Given the description of an element on the screen output the (x, y) to click on. 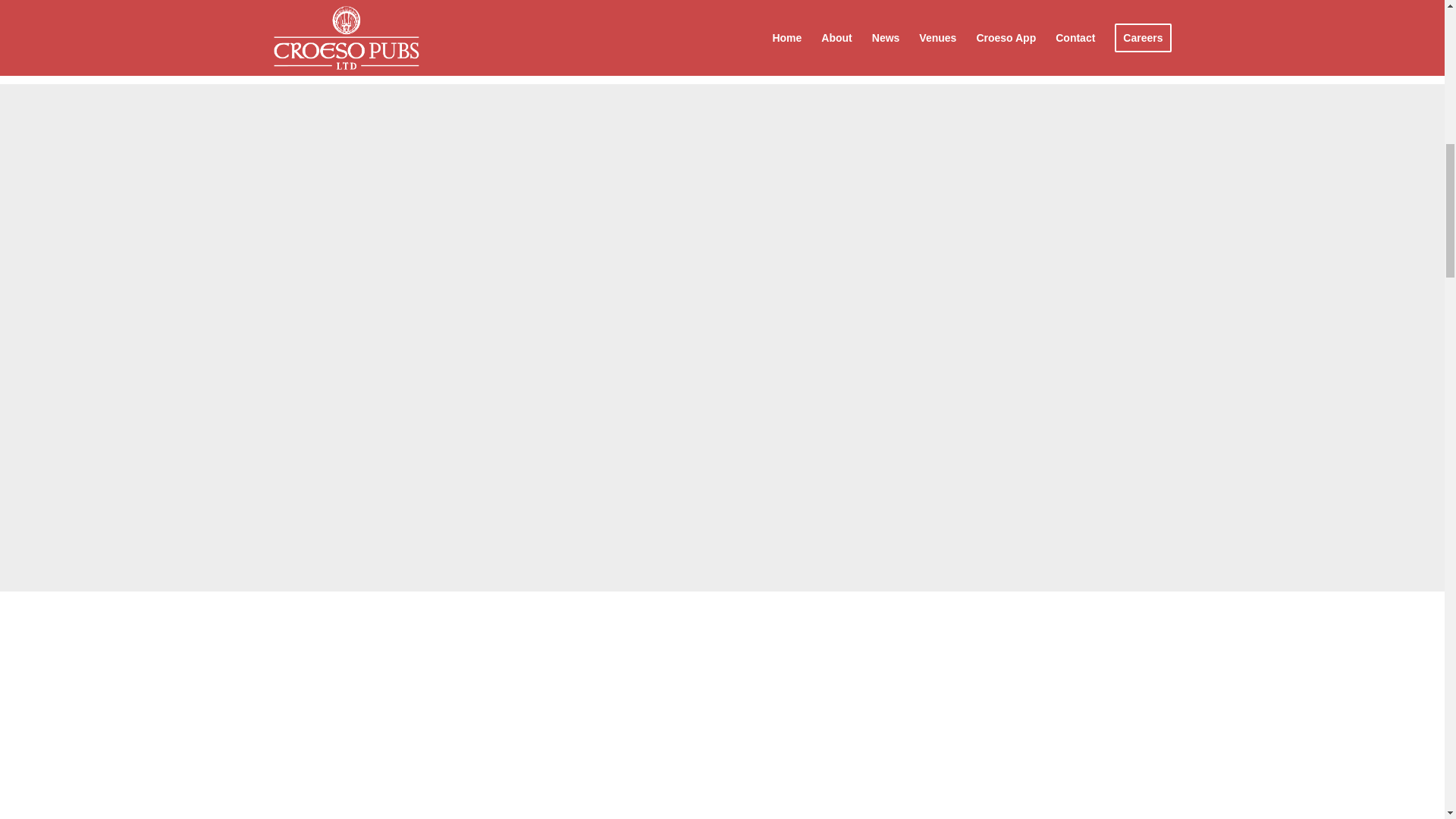
1-3 (964, 23)
